Given the description of an element on the screen output the (x, y) to click on. 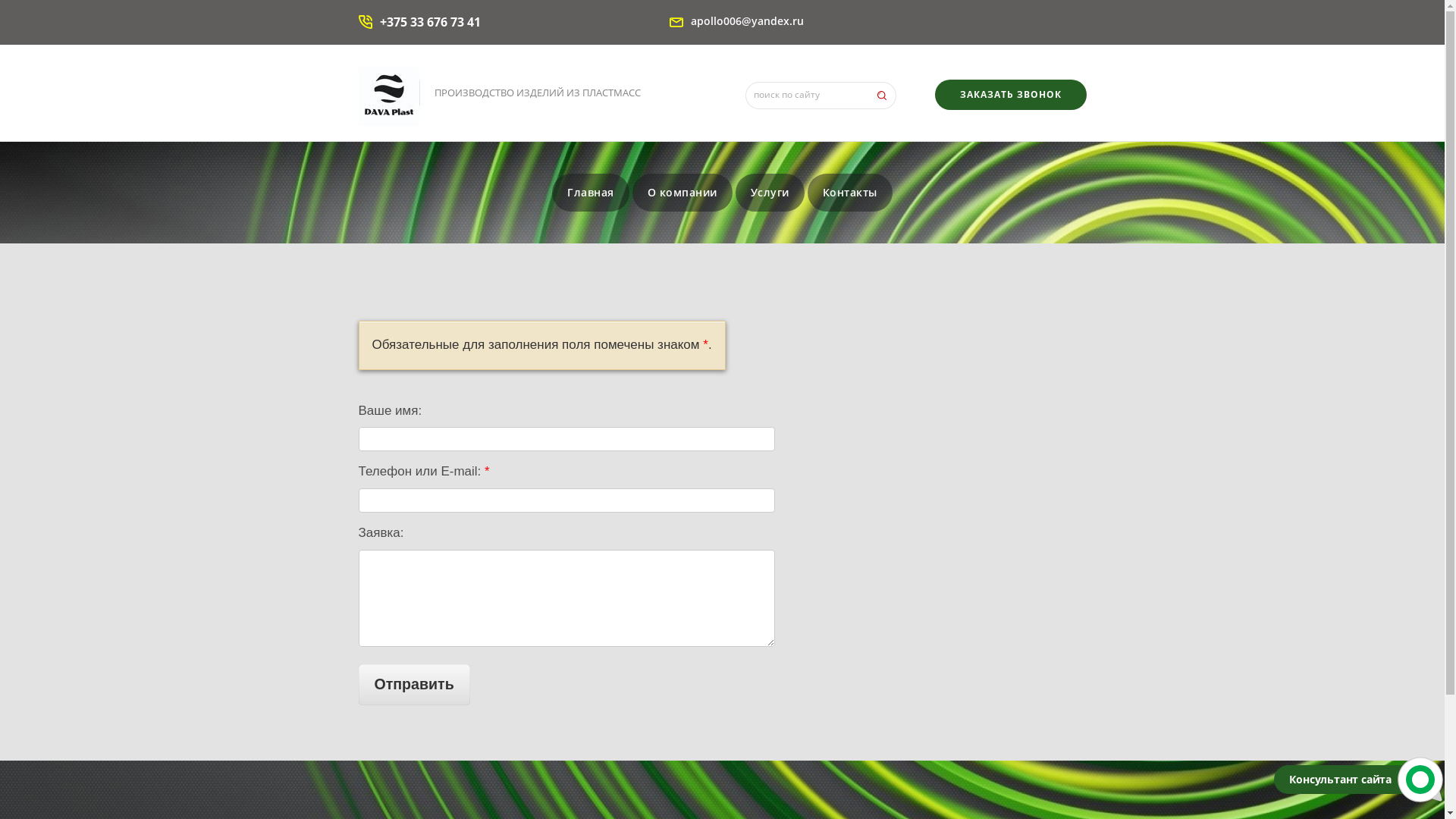
+375 33 676 73 41 Element type: text (429, 21)
apollo006@yandex.ru Element type: text (746, 20)
